Given the description of an element on the screen output the (x, y) to click on. 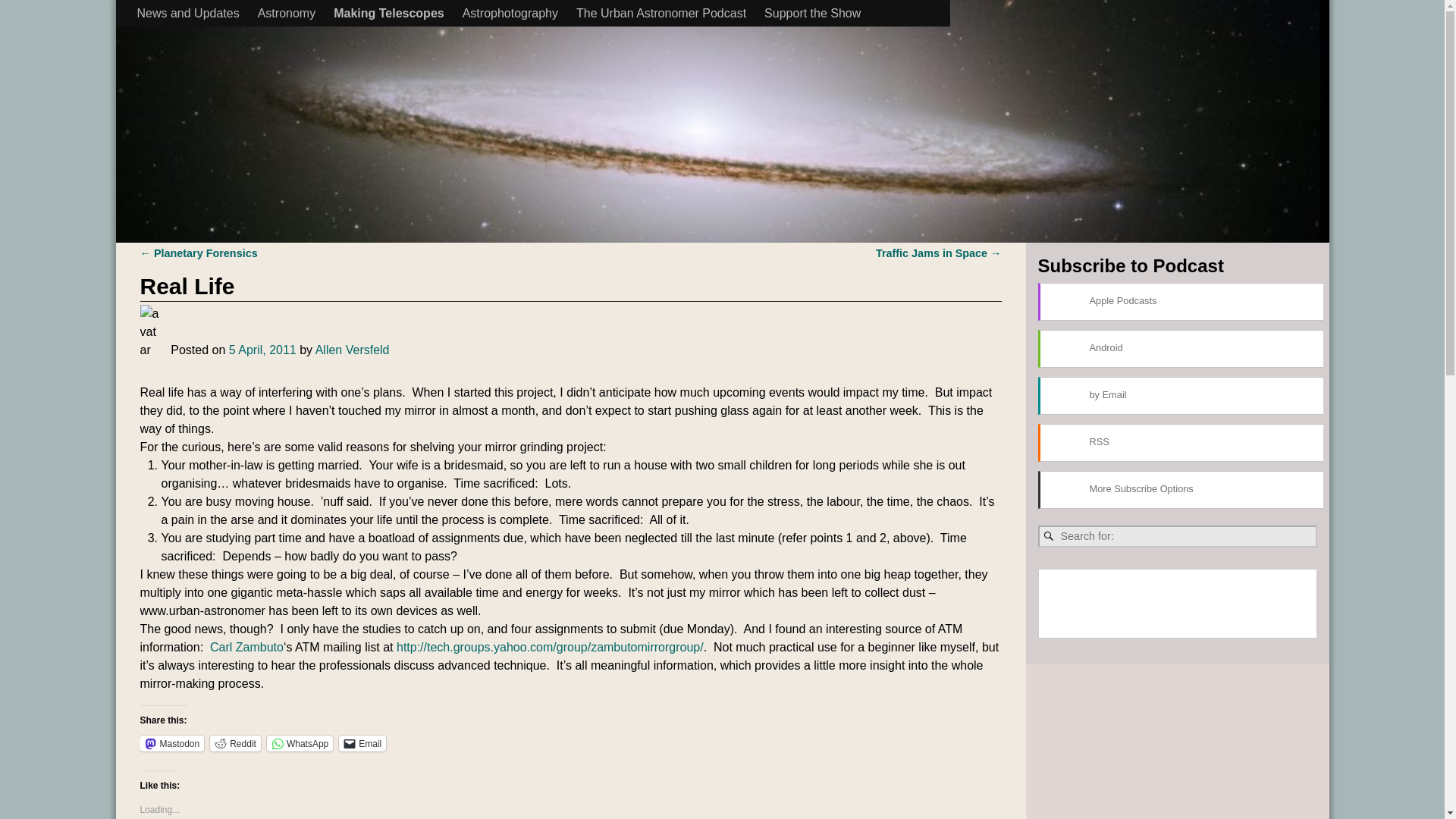
Astronomy (286, 13)
Click to email a link to a friend (362, 743)
Subscribe on Android (1181, 348)
Urban Astronomer (287, 15)
Mastodon (171, 743)
Support the Show (812, 13)
Subscribe by Email (1181, 395)
Reddit (234, 743)
Subscribe on Apple Podcasts (1181, 301)
Click to share on WhatsApp (299, 743)
Carl Zambuto (246, 646)
Urban Astronomer (287, 15)
View all posts by Allen Versfeld (352, 349)
Click to share on Mastodon (171, 743)
News and Updates (187, 13)
